Given the description of an element on the screen output the (x, y) to click on. 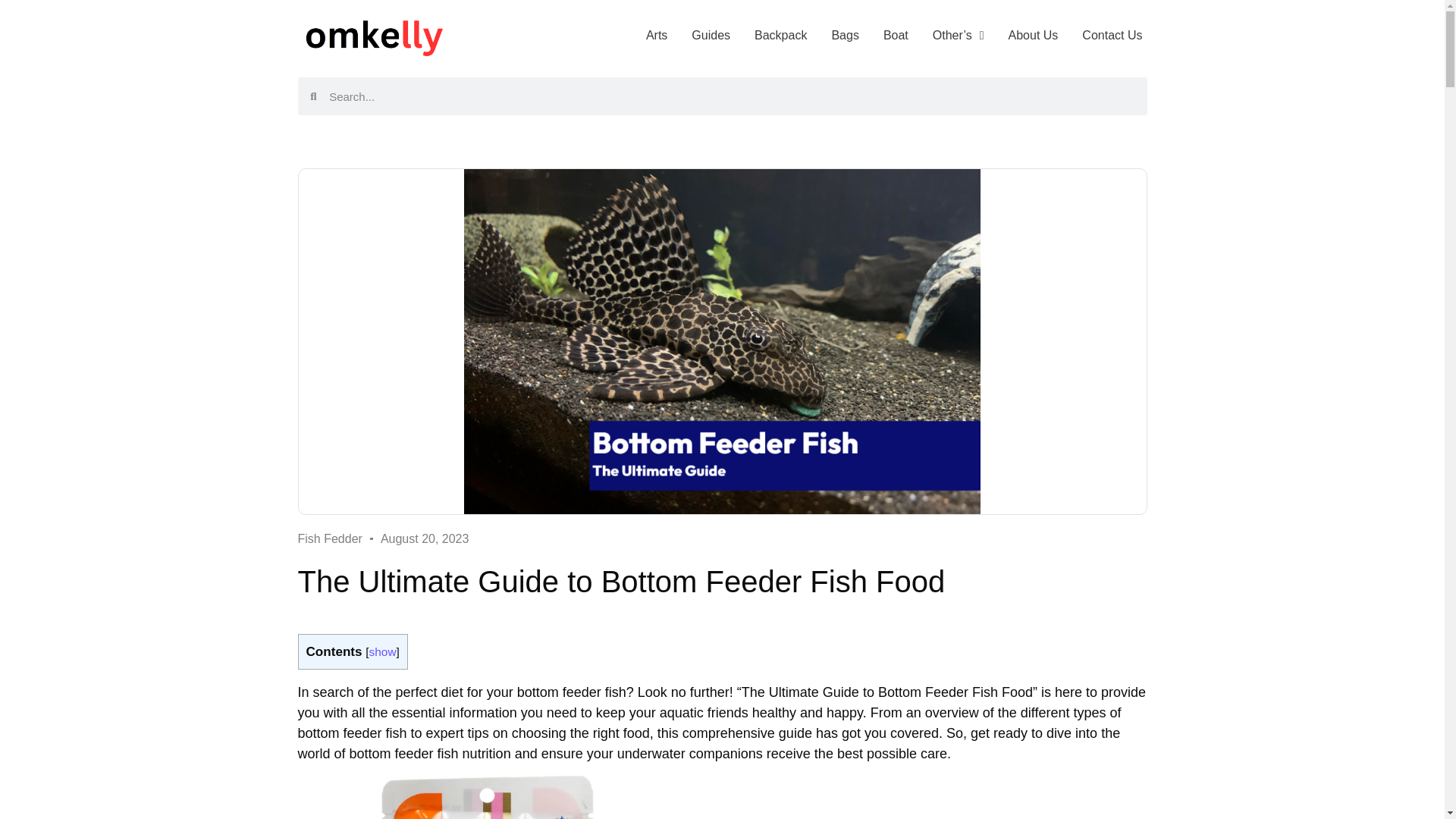
Contact Us (1112, 35)
Search (732, 95)
About Us (1032, 35)
Backpack (780, 35)
The Ultimate Guide to Bottom Feeder Fish Food (487, 797)
Guides (710, 35)
